Given the description of an element on the screen output the (x, y) to click on. 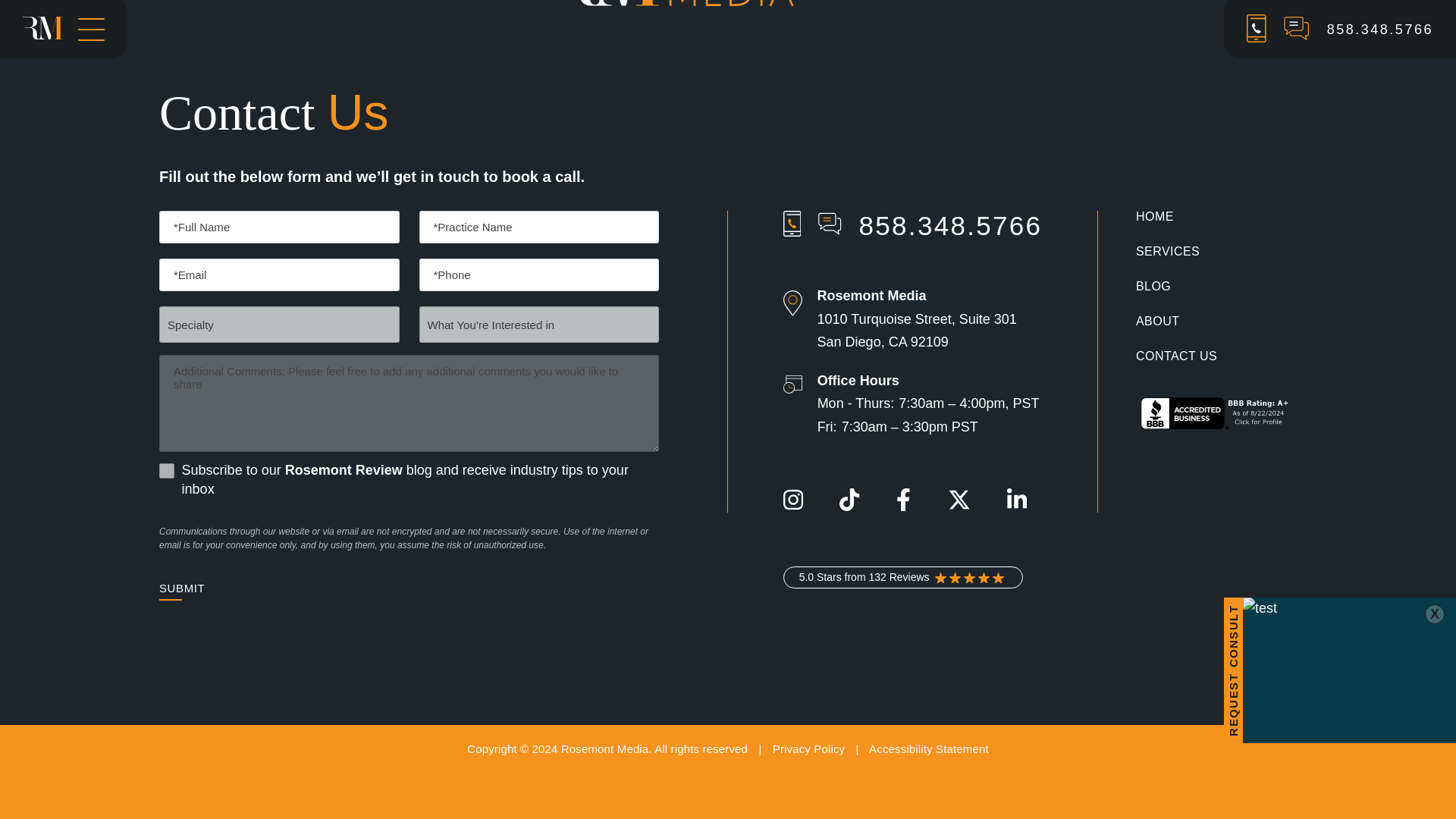
Rosemont Media (727, 2)
true (166, 470)
Submit (181, 587)
